Given the description of an element on the screen output the (x, y) to click on. 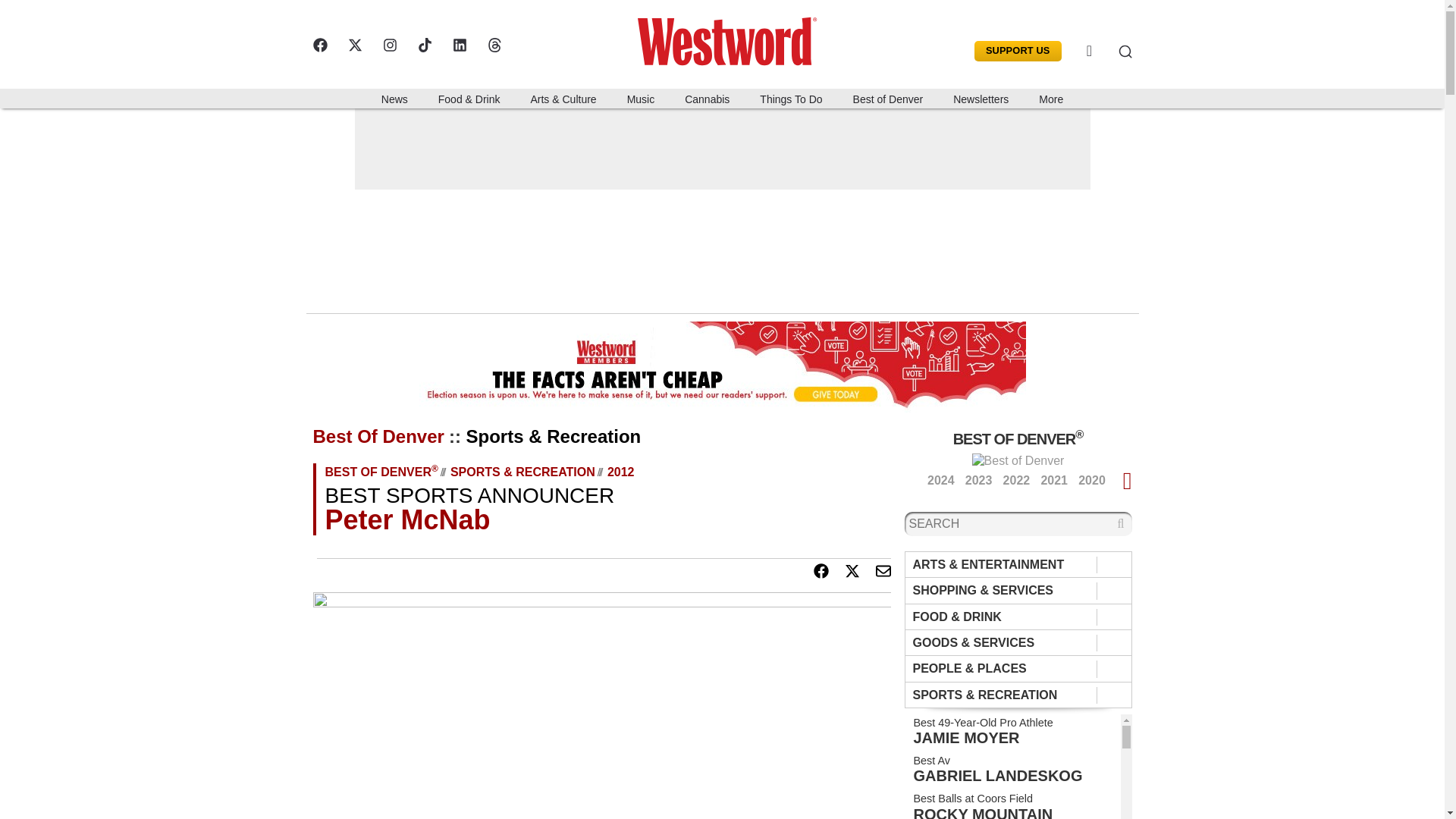
threads (493, 44)
linkedin (458, 44)
instagram (388, 44)
SUPPORT US (1017, 50)
twitter (354, 44)
facebook (319, 44)
tiktok (423, 44)
Westword (731, 38)
